Given the description of an element on the screen output the (x, y) to click on. 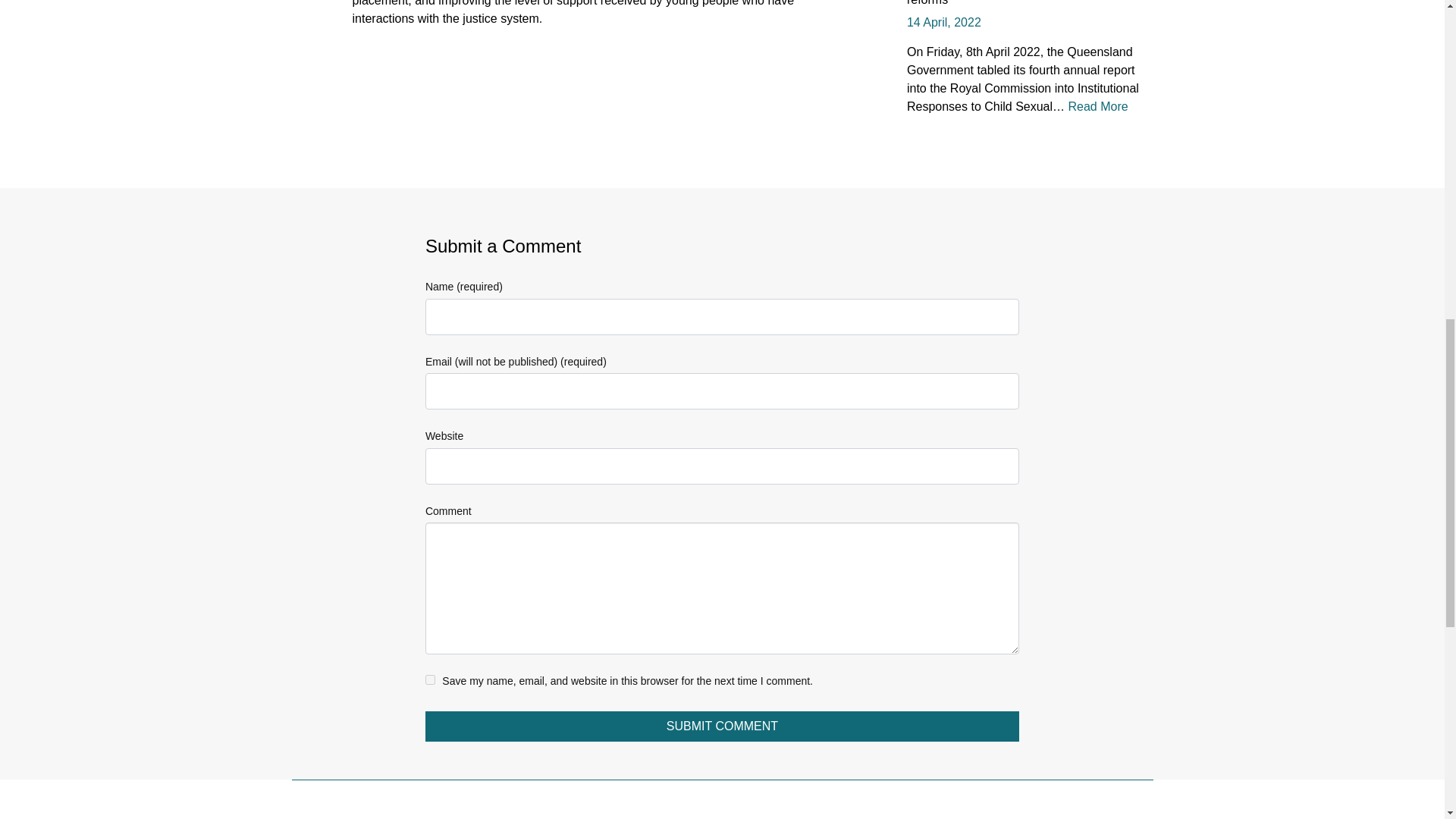
yes (430, 679)
Report into institutional child sexual abuse reforms (1020, 2)
Read More (1096, 106)
Submit Comment (722, 726)
